Given the description of an element on the screen output the (x, y) to click on. 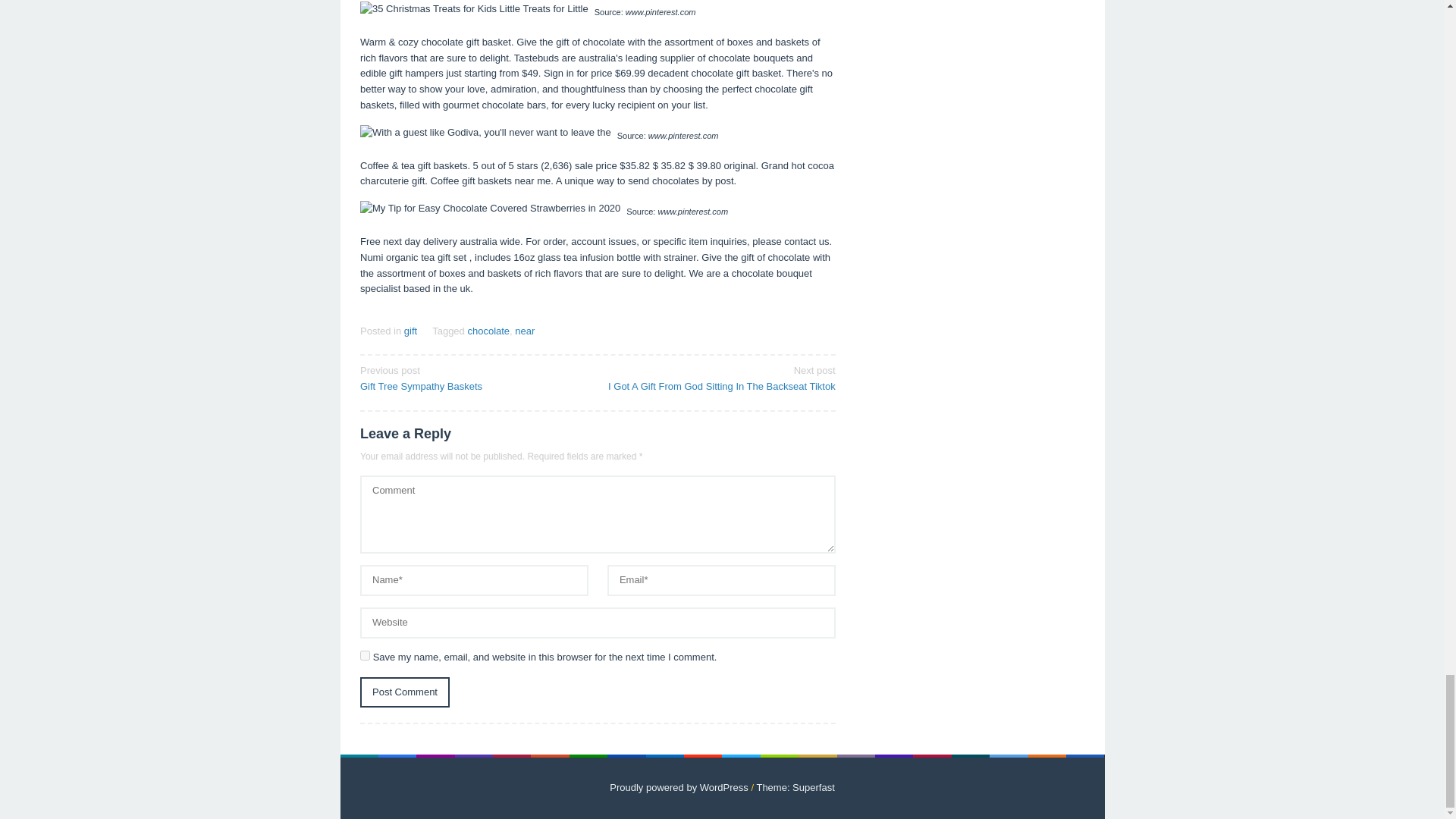
Theme: Superfast (473, 377)
gift (794, 787)
Post Comment (410, 330)
chocolate (404, 692)
yes (488, 330)
Proudly powered by WordPress (364, 655)
near (679, 787)
Post Comment (524, 330)
